Given the description of an element on the screen output the (x, y) to click on. 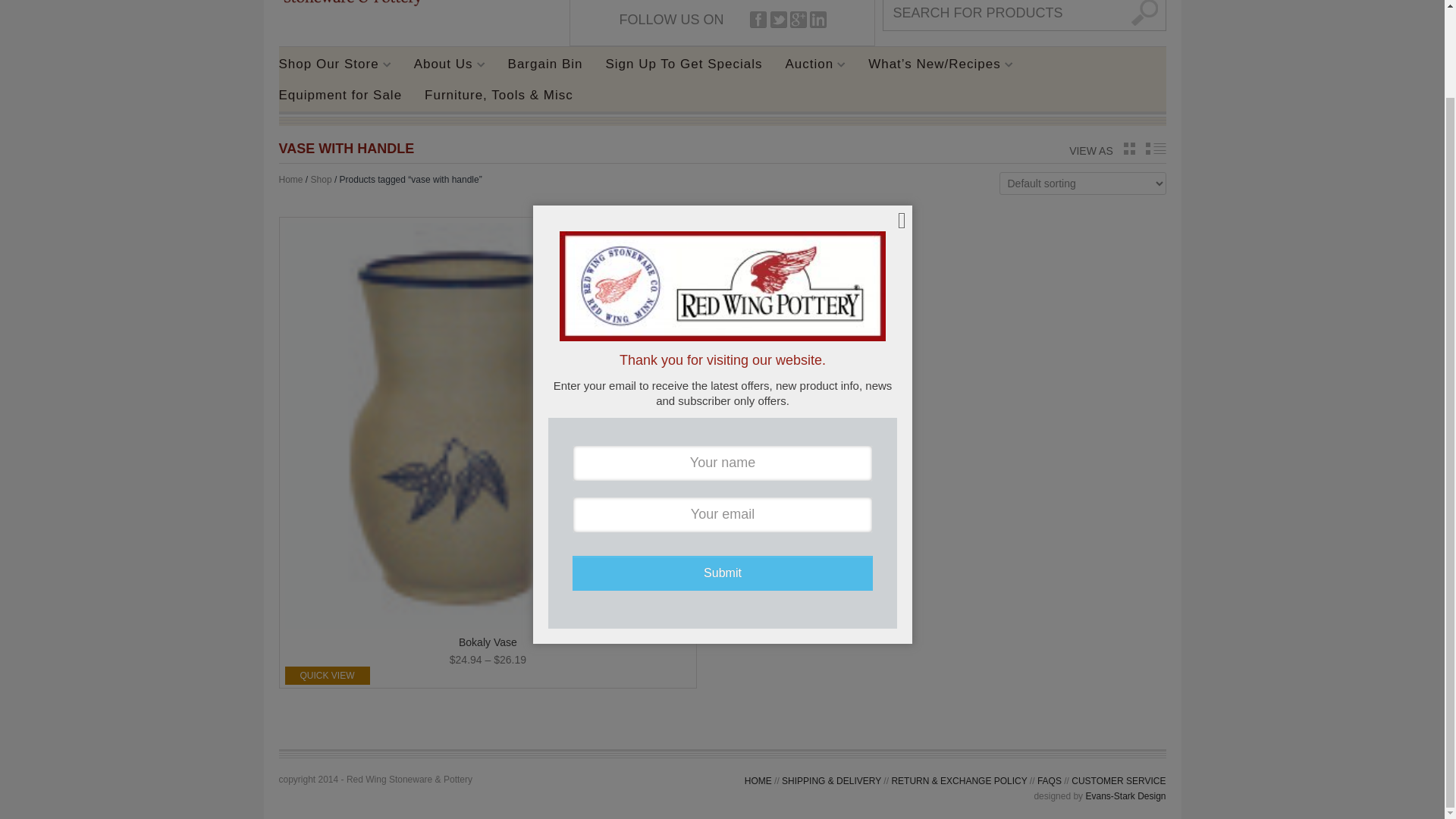
Switch to list view (1155, 148)
facebook (758, 19)
Switch to grid view (1129, 148)
linkedin (818, 19)
google (798, 19)
twitter (778, 19)
